Given the description of an element on the screen output the (x, y) to click on. 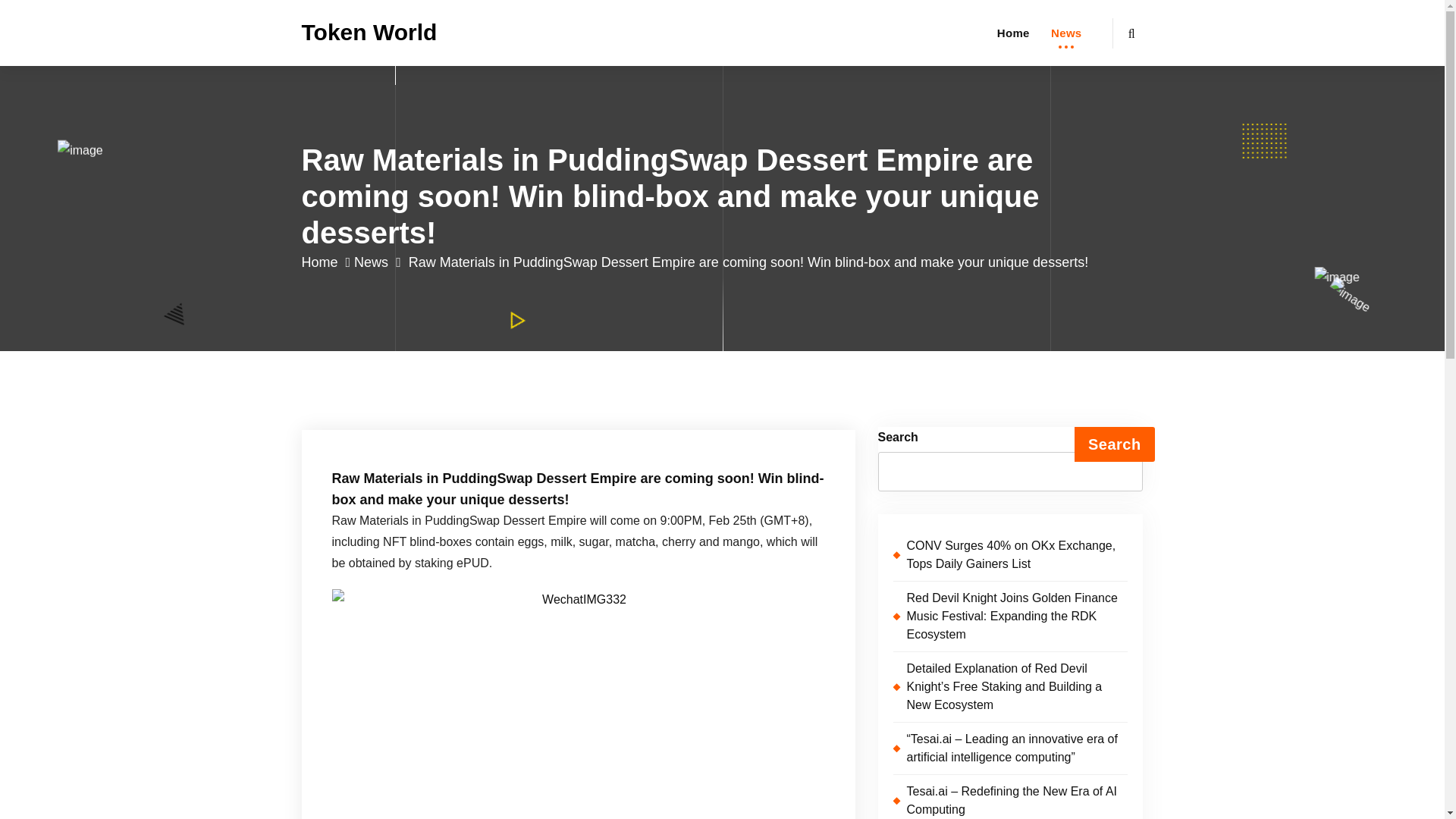
Home (1013, 33)
Home (1013, 33)
Home (325, 262)
Search (1114, 443)
News (377, 262)
Token World (369, 31)
News (1065, 33)
News (1065, 33)
